Given the description of an element on the screen output the (x, y) to click on. 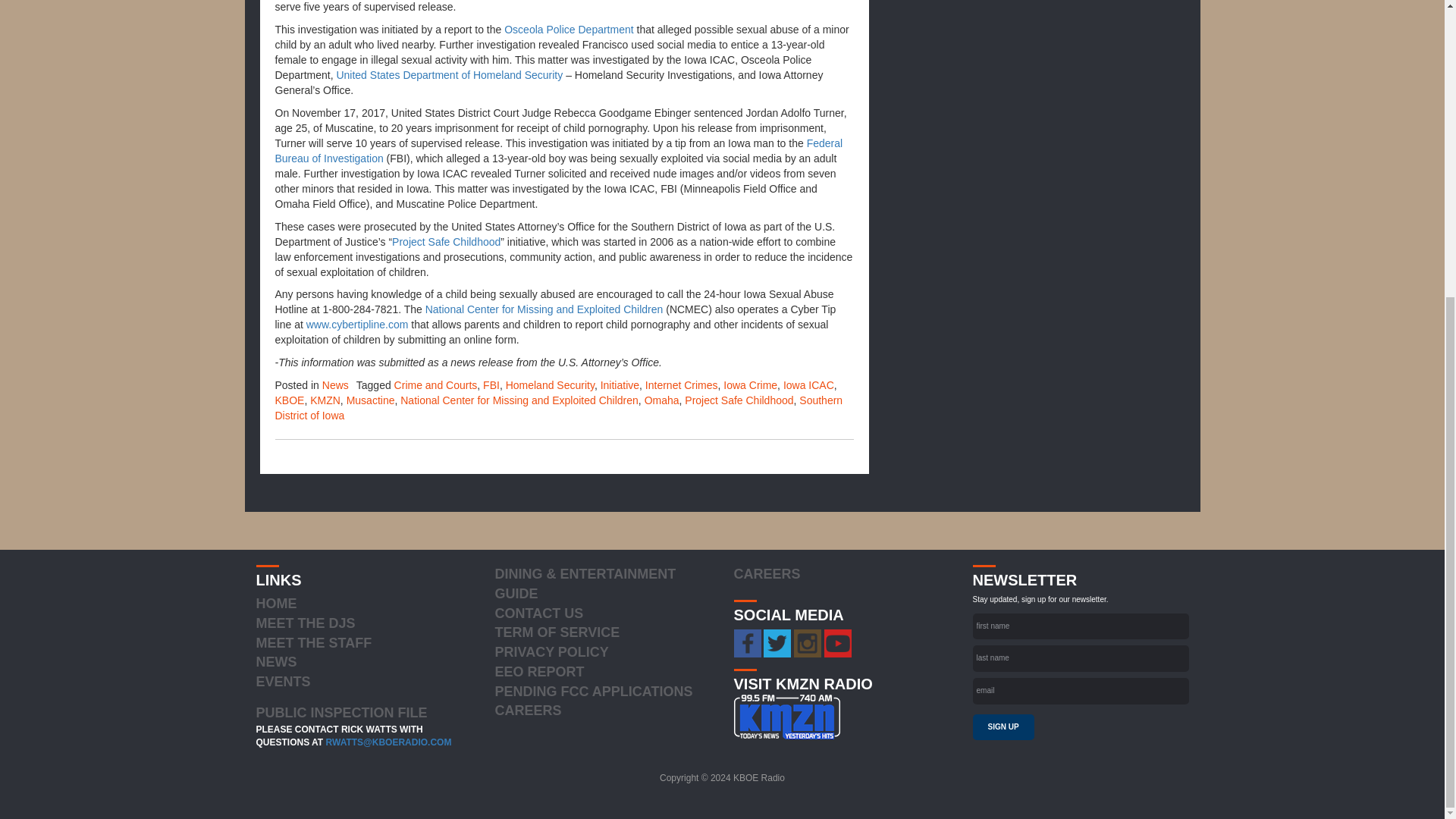
Sign up (1002, 727)
